Given the description of an element on the screen output the (x, y) to click on. 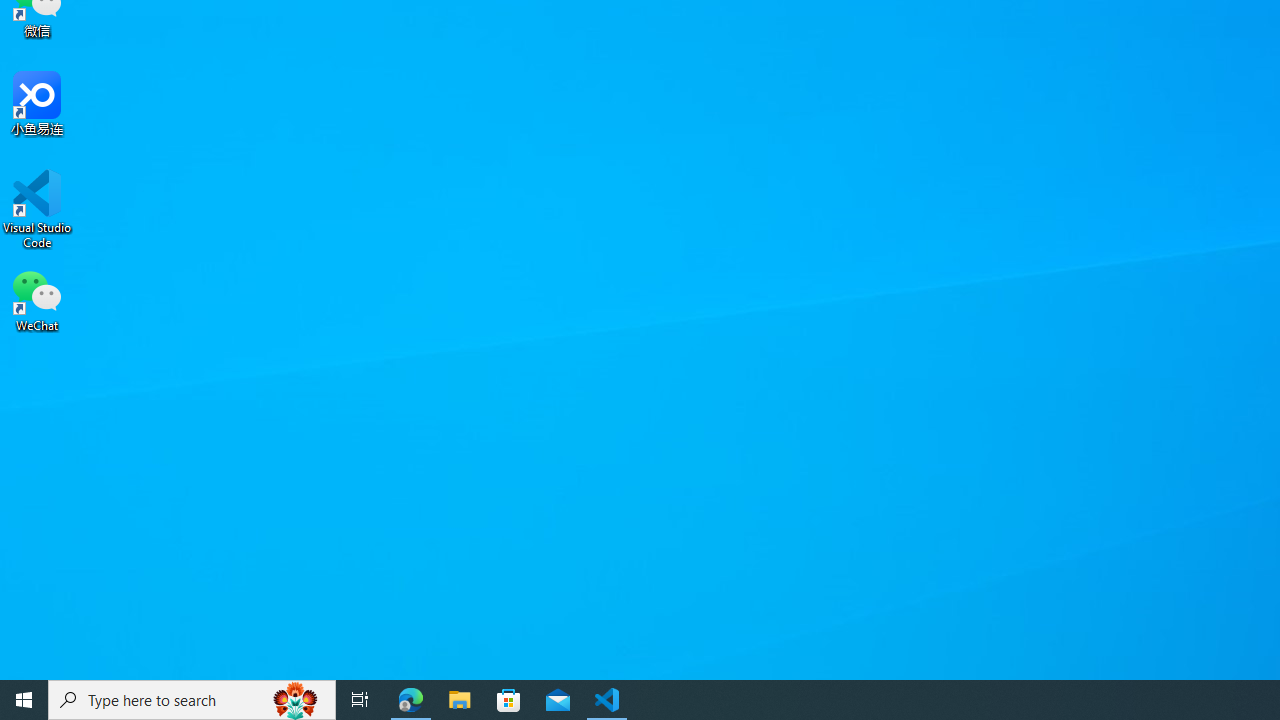
Microsoft Edge - 1 running window (411, 699)
File Explorer (460, 699)
Visual Studio Code - 1 running window (607, 699)
Task View (359, 699)
Microsoft Store (509, 699)
Start (24, 699)
Search highlights icon opens search home window (295, 699)
WeChat (37, 299)
Type here to search (191, 699)
Visual Studio Code (37, 209)
